Given the description of an element on the screen output the (x, y) to click on. 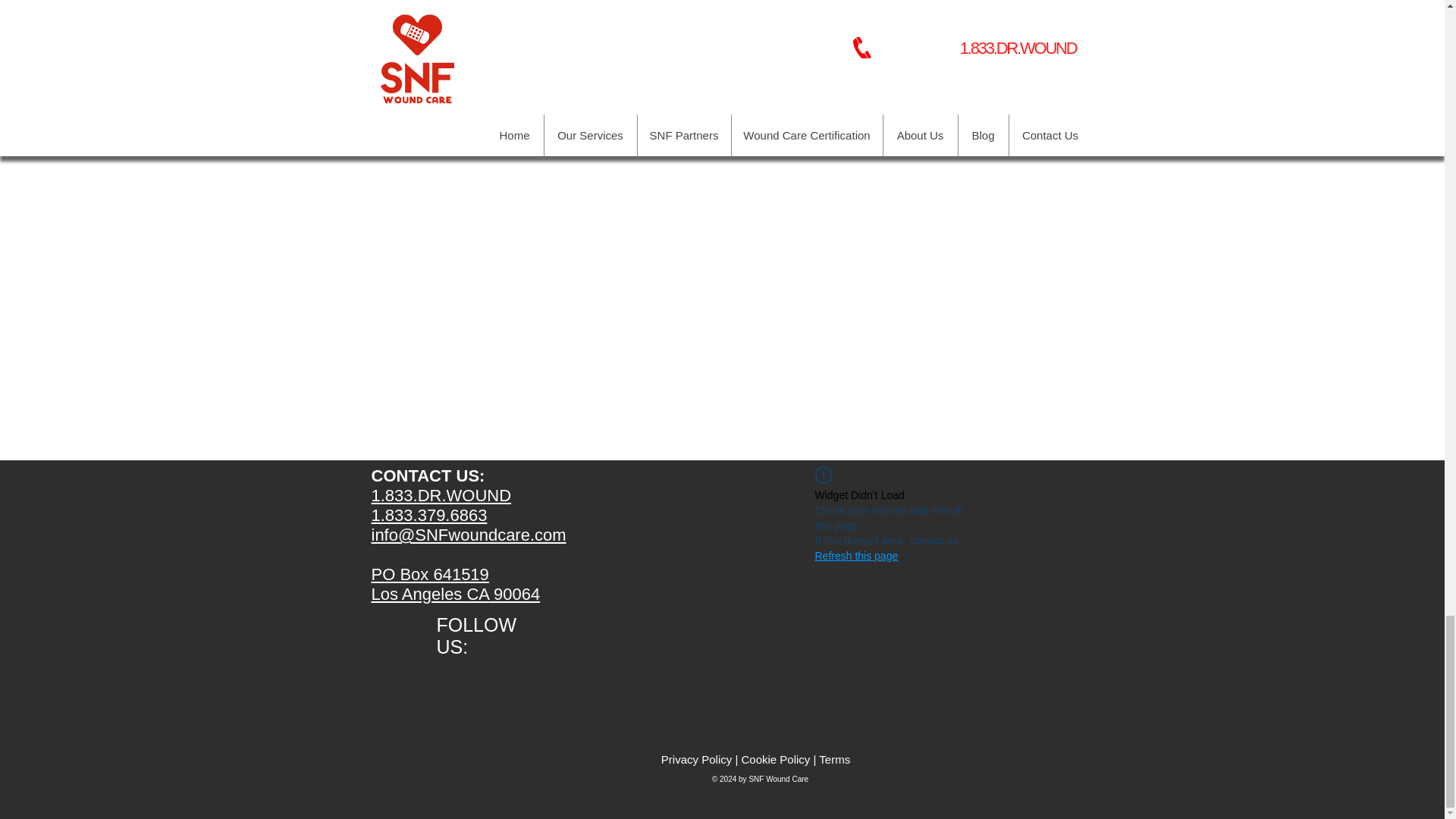
Refresh this page (855, 555)
Terms (834, 758)
Cookie Policy (775, 758)
1.833.DR.WOUND (441, 495)
Privacy Policy (696, 758)
1.833.379.6863 (429, 515)
